Given the description of an element on the screen output the (x, y) to click on. 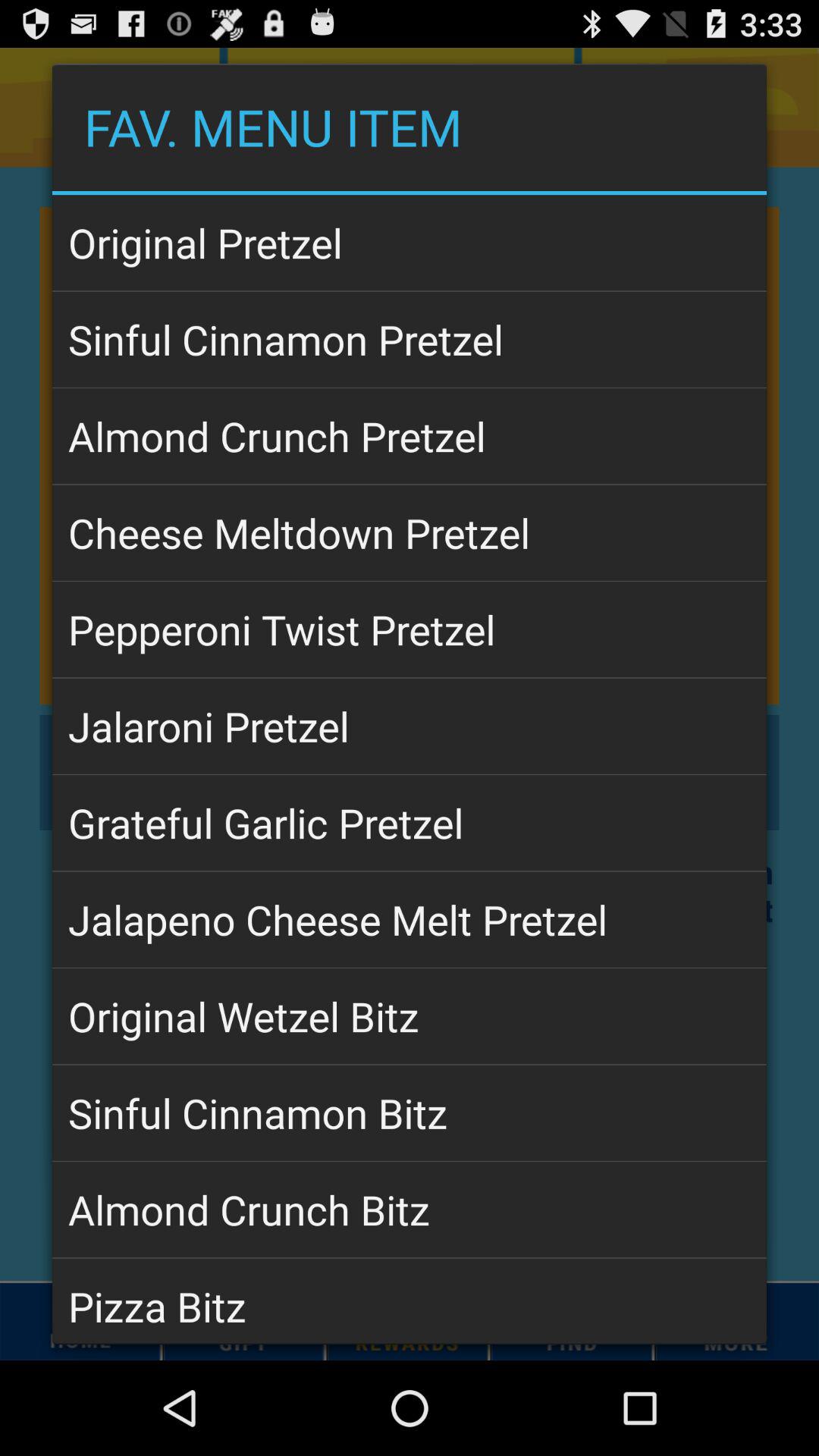
turn off the icon below the jalaroni pretzel item (409, 822)
